Given the description of an element on the screen output the (x, y) to click on. 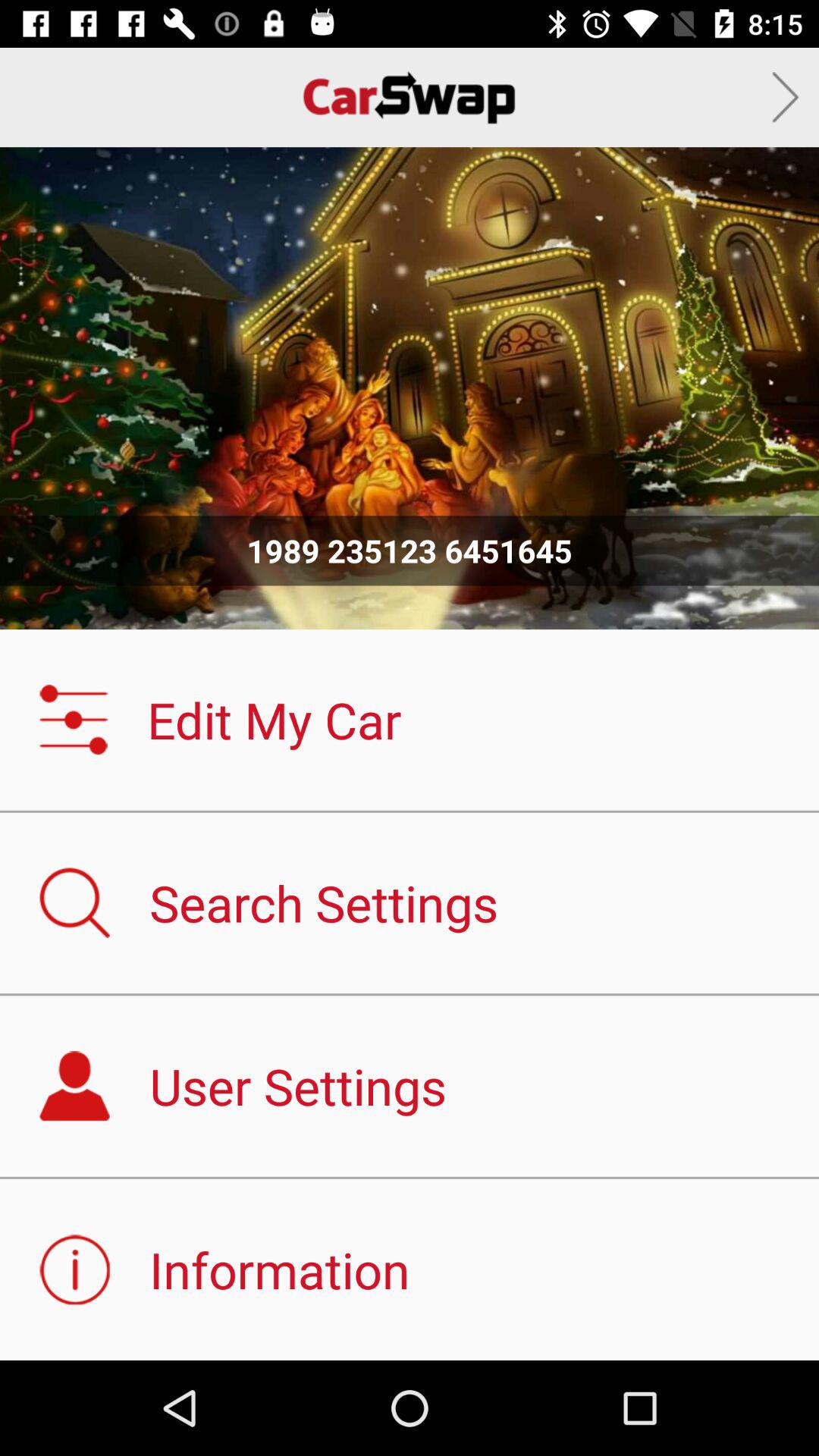
move to next item (785, 97)
